Given the description of an element on the screen output the (x, y) to click on. 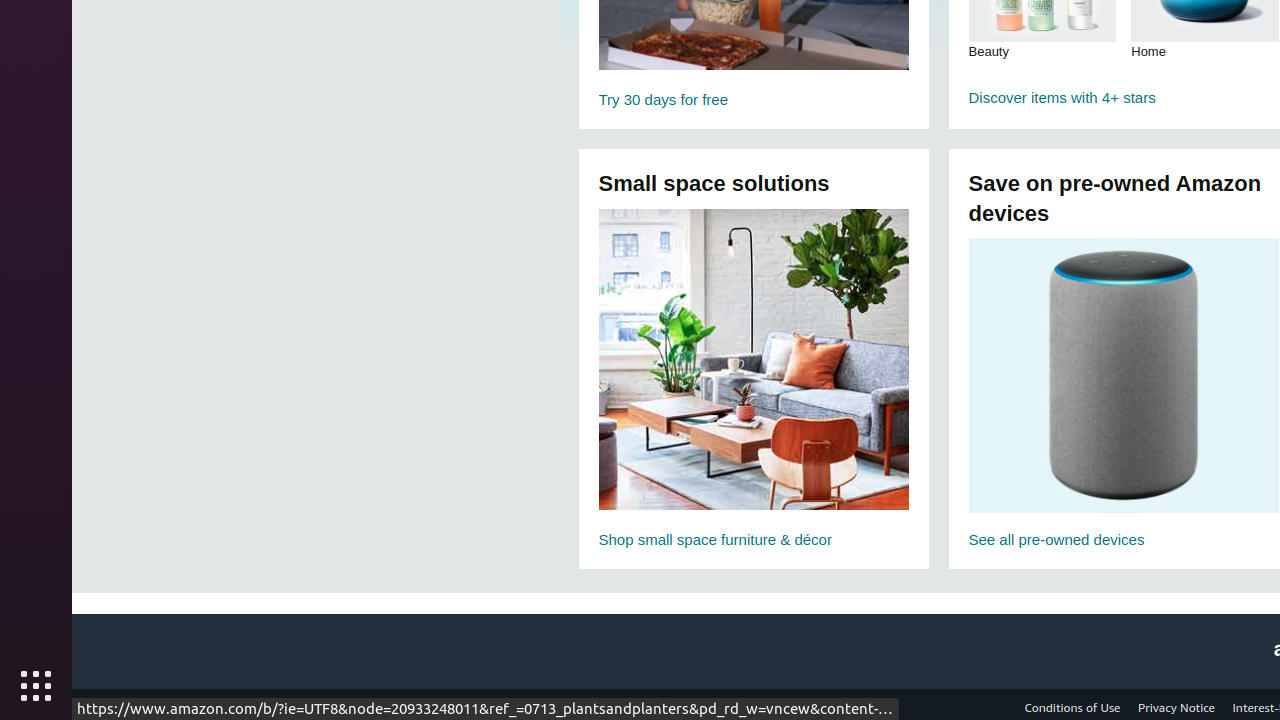
Discover items with 4+ stars Element type: link (1123, 97)
Small space furniture solutions Shop small space furniture & décor Element type: link (753, 380)
Privacy Notice Element type: link (1176, 707)
Conditions of Use Element type: link (1072, 707)
Show Applications Element type: toggle-button (36, 686)
